Given the description of an element on the screen output the (x, y) to click on. 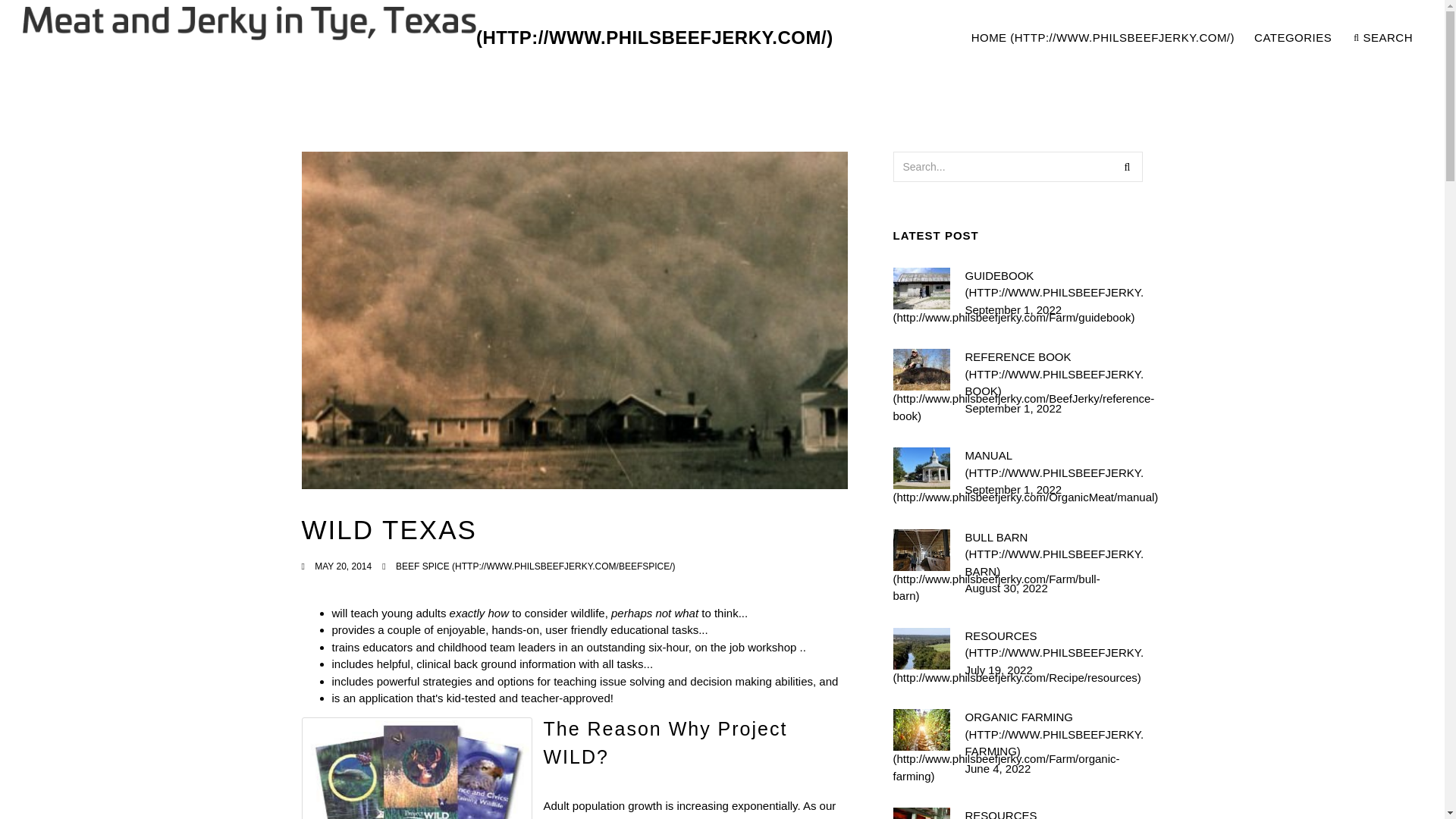
GUIDEBOOK (1052, 283)
Meat and Jerky in Tye, Texas (427, 38)
Search (1191, 38)
BEEF SPICE (1126, 166)
MANUAL (535, 566)
REFERENCE BOOK (1052, 464)
BULL BARN (1052, 374)
SEARCH (1052, 554)
HOME (1382, 38)
CATEGORIES (1102, 38)
RESOURCES (1293, 38)
PW book covers (1052, 644)
